Given the description of an element on the screen output the (x, y) to click on. 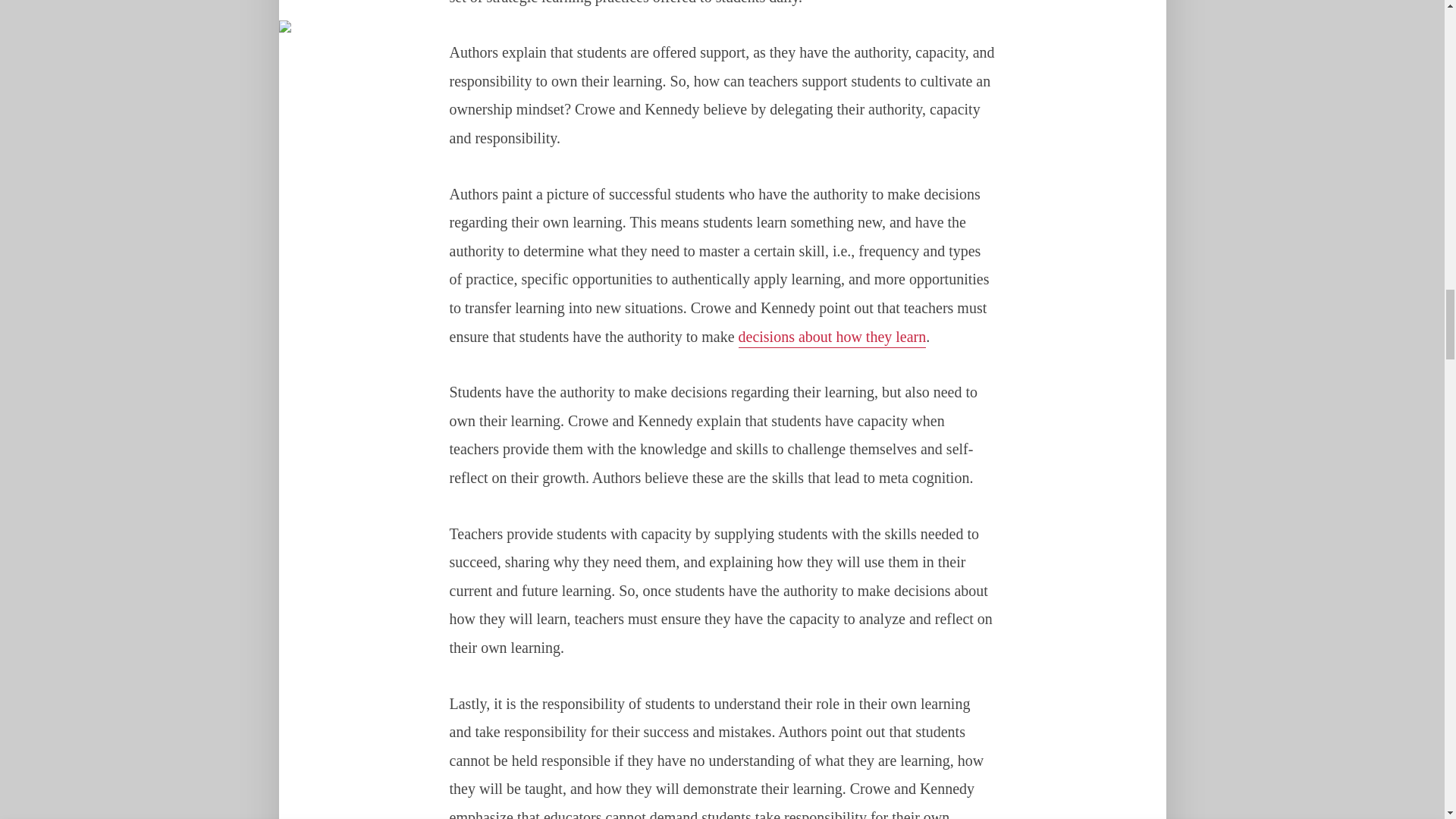
decisions about how they learn (832, 338)
